Given the description of an element on the screen output the (x, y) to click on. 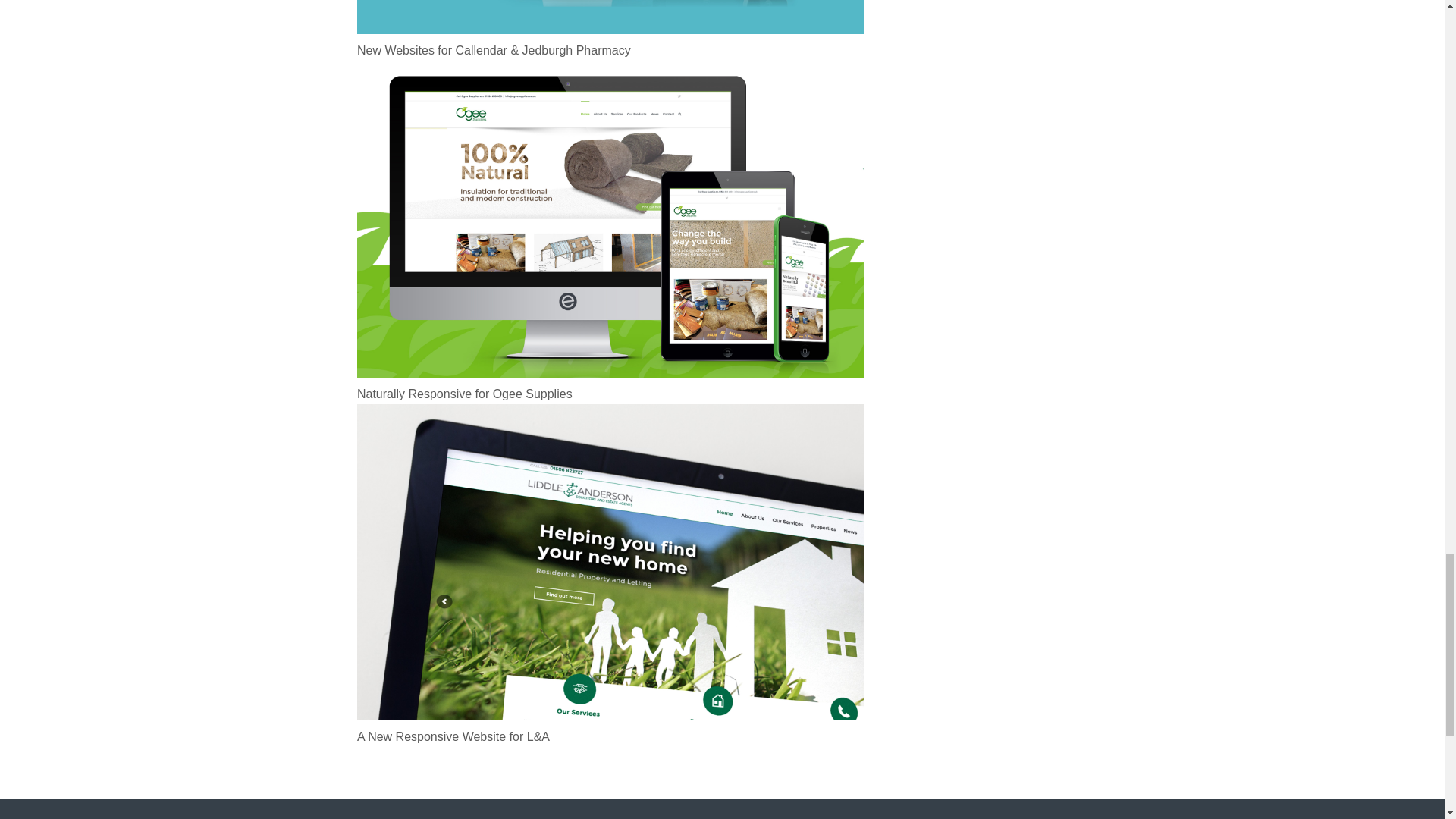
Naturally Responsive for Ogee Supplies (609, 394)
Naturally Responsive for Ogee Supplies (609, 394)
